Given the description of an element on the screen output the (x, y) to click on. 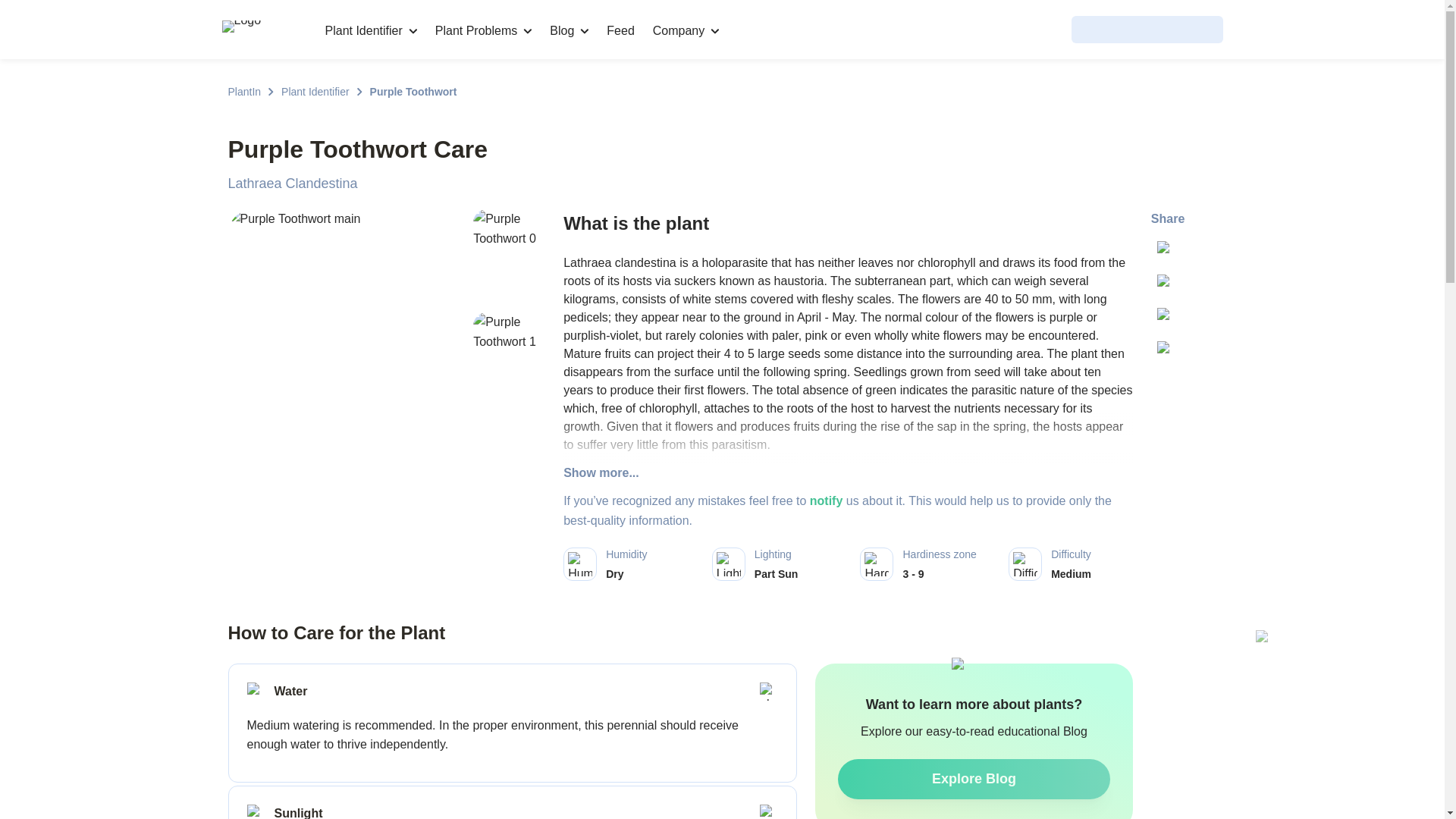
Explore Blog (973, 779)
Hardiness zone (876, 564)
Humidity (579, 564)
Show more... (847, 473)
Plant Problems (483, 31)
Twitter (1167, 251)
Feed (619, 31)
Water (255, 691)
PlantIn (243, 91)
